Given the description of an element on the screen output the (x, y) to click on. 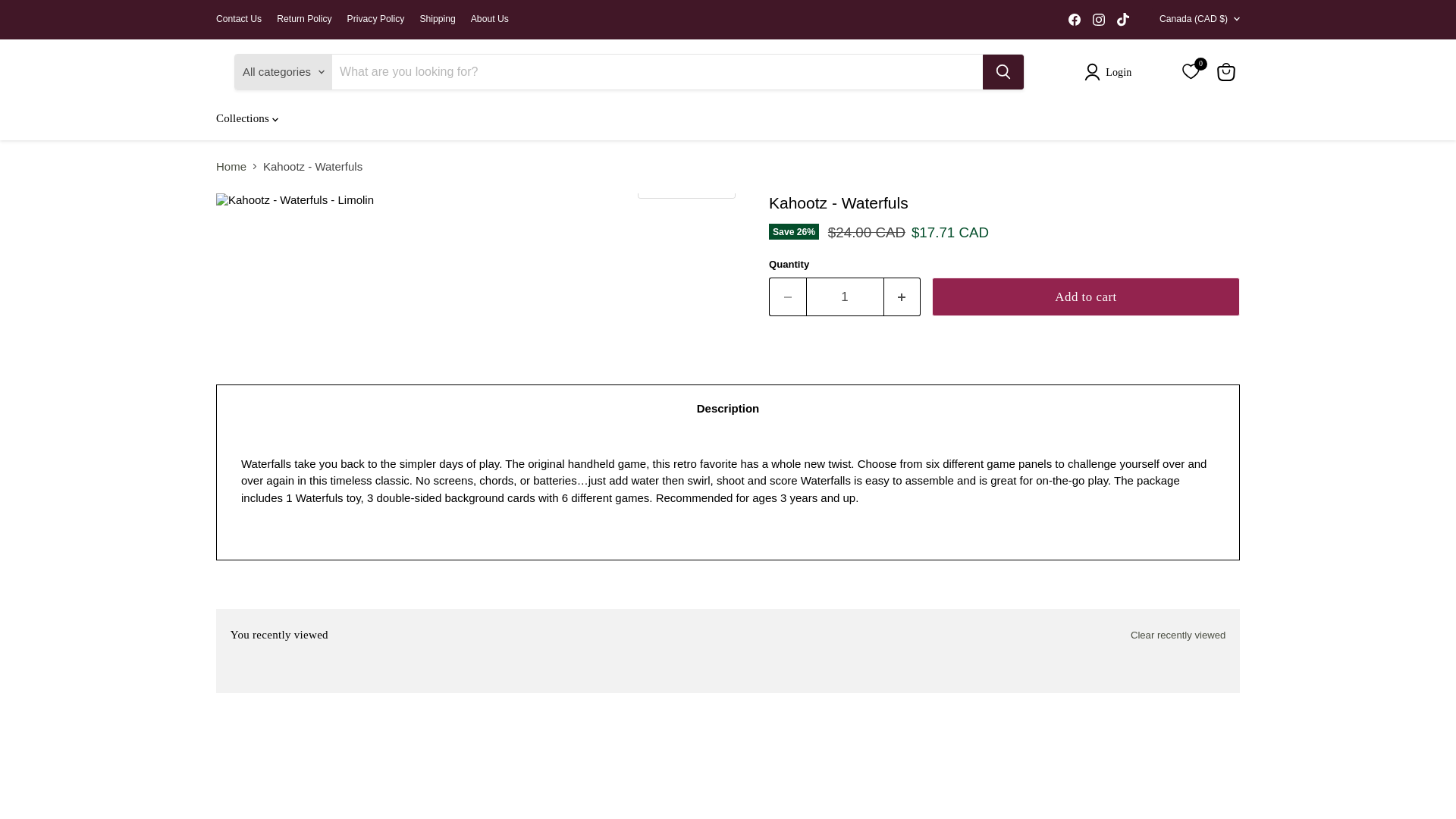
Find us on TikTok (1123, 19)
Privacy Policy (375, 18)
Contact Us (238, 18)
Find us on Instagram (1098, 19)
About Us (489, 18)
TikTok (1123, 19)
1 (844, 296)
Shipping (436, 18)
Facebook (1074, 19)
Return Policy (303, 18)
